Given the description of an element on the screen output the (x, y) to click on. 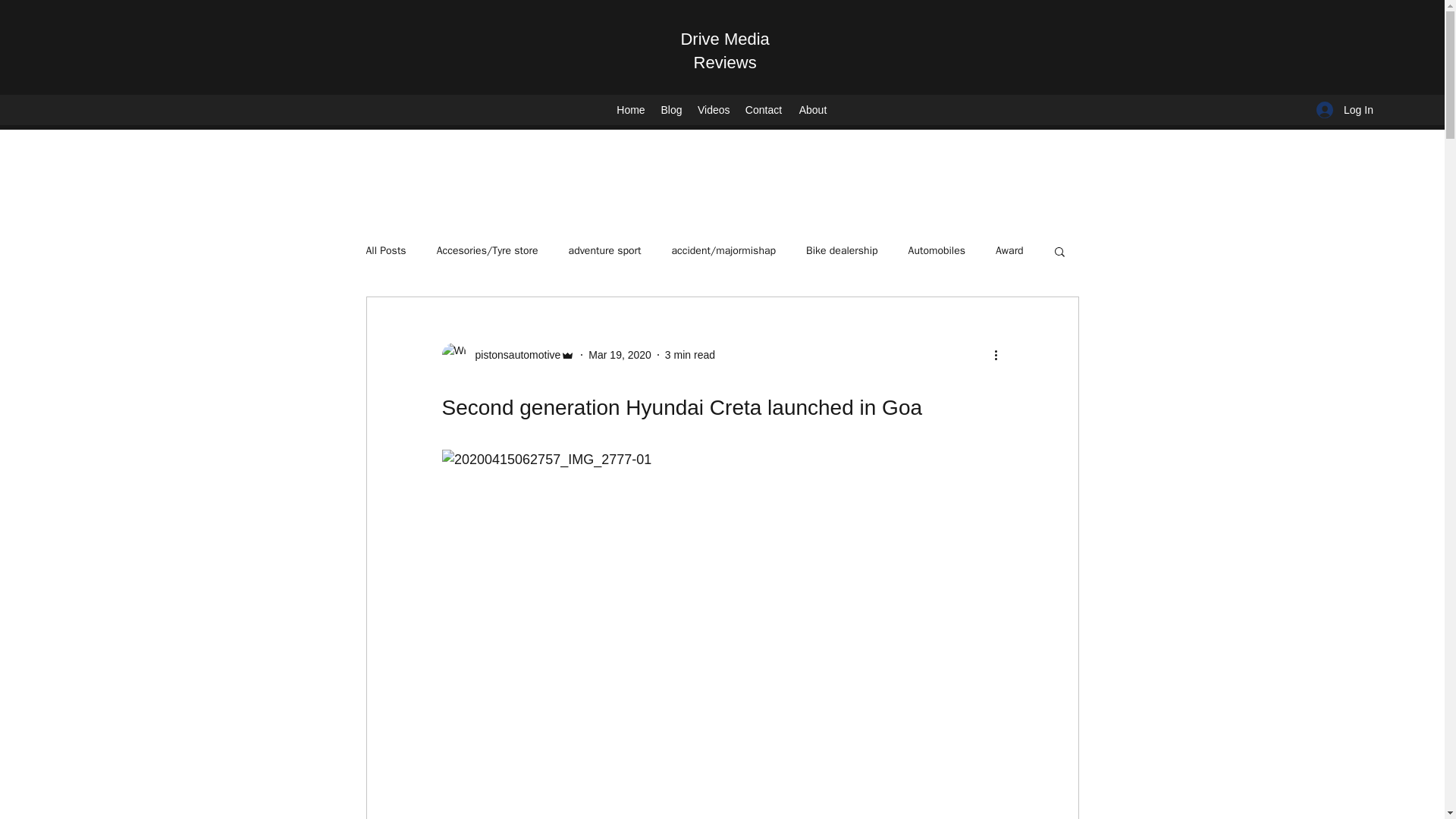
Videos (713, 109)
adventure sport (605, 250)
Home (630, 109)
About (812, 109)
Log In (1345, 109)
Drive Media Reviews (723, 50)
pistonsautomotive (508, 354)
Bike dealership (841, 250)
pistonsautomotive (512, 355)
Award (1009, 250)
All Posts (385, 250)
Mar 19, 2020 (619, 354)
Contact (763, 109)
3 min read (689, 354)
Blog (671, 109)
